Given the description of an element on the screen output the (x, y) to click on. 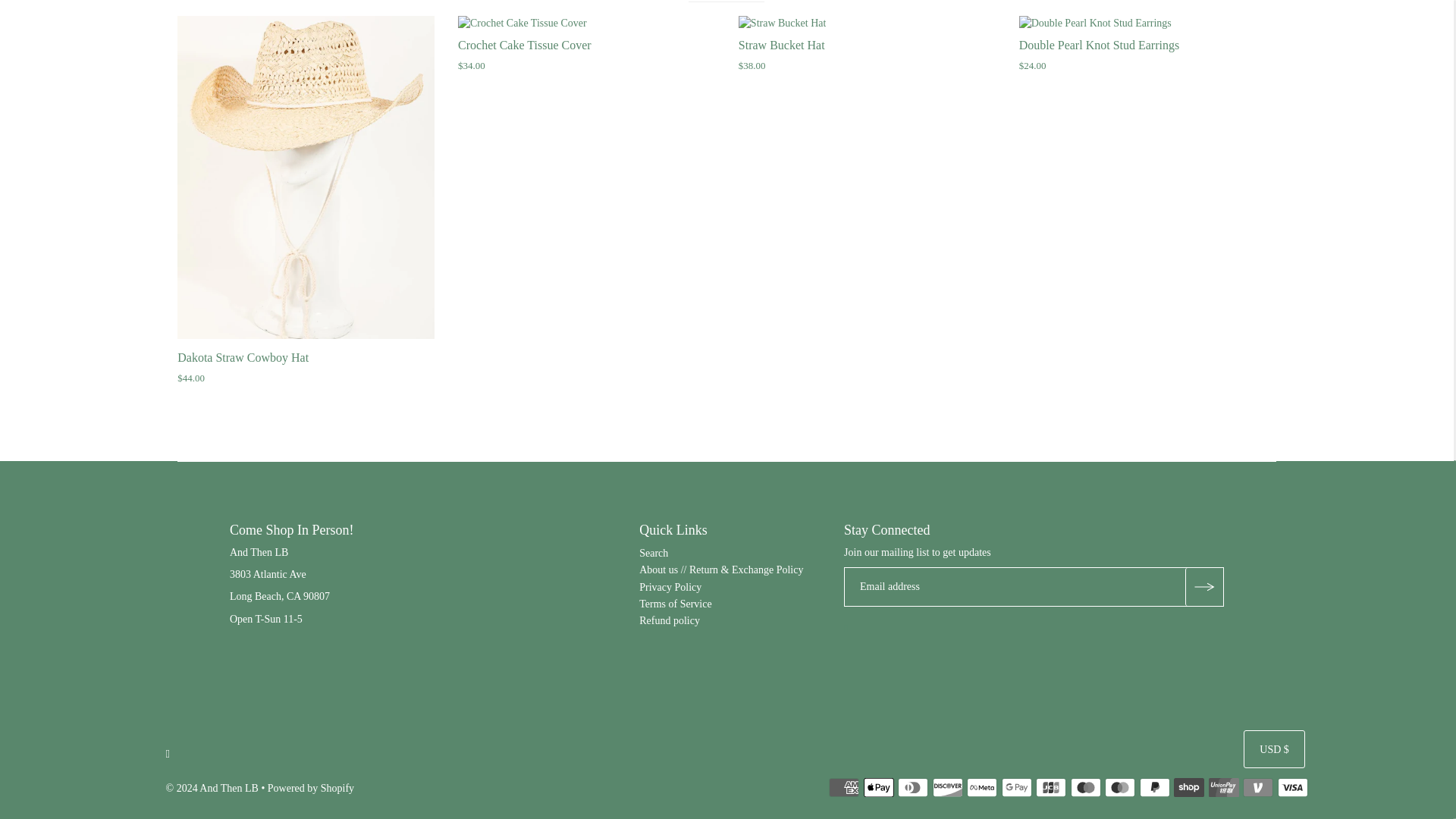
Union Pay (1223, 787)
Diners Club (913, 787)
PayPal (1155, 787)
Venmo (1257, 787)
Visa (1292, 787)
Maestro (1085, 787)
Google Pay (1016, 787)
JCB (1050, 787)
Shop Pay (1188, 787)
Meta Pay (981, 787)
